Given the description of an element on the screen output the (x, y) to click on. 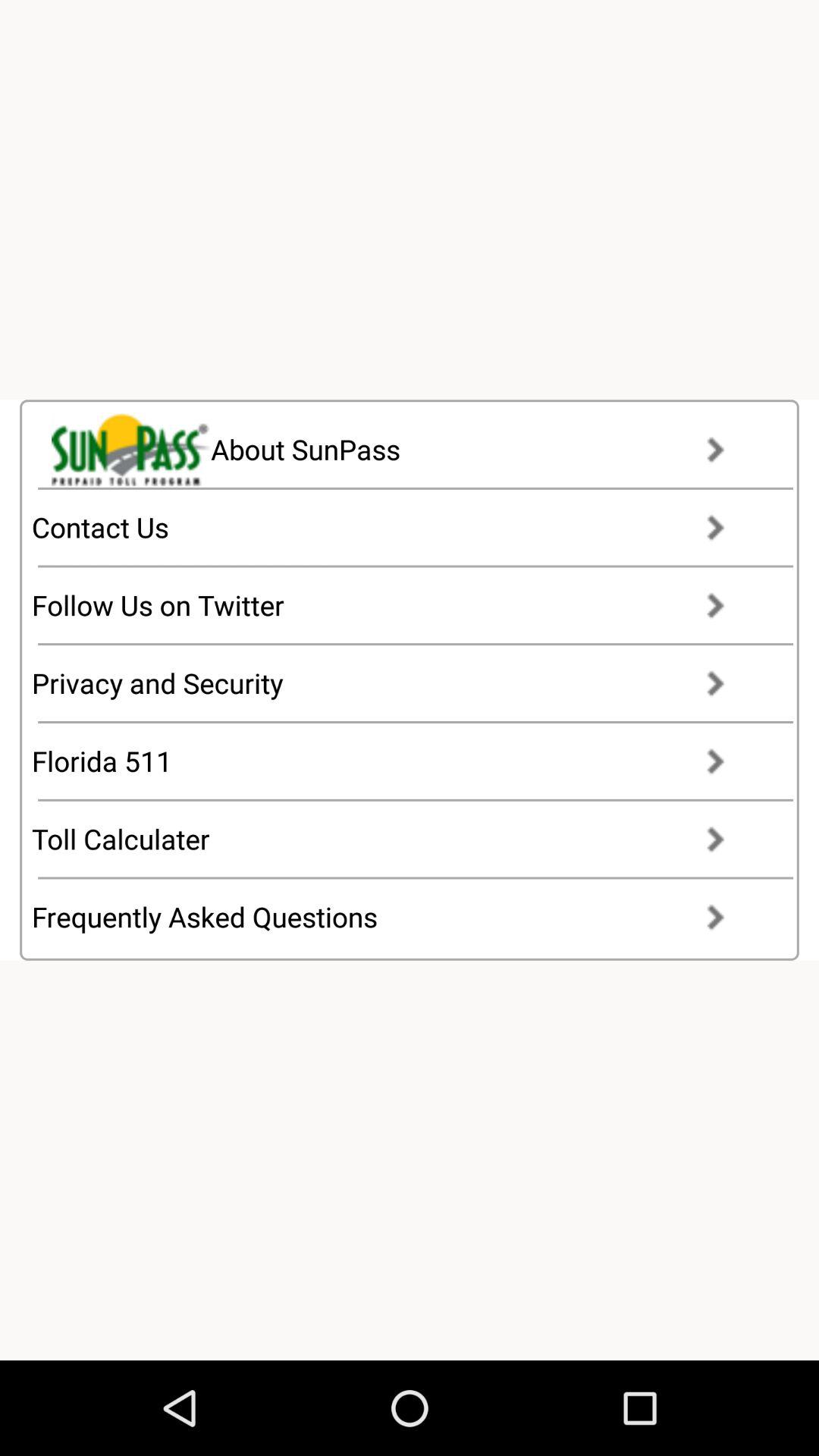
flip until about sunpass button (402, 449)
